Given the description of an element on the screen output the (x, y) to click on. 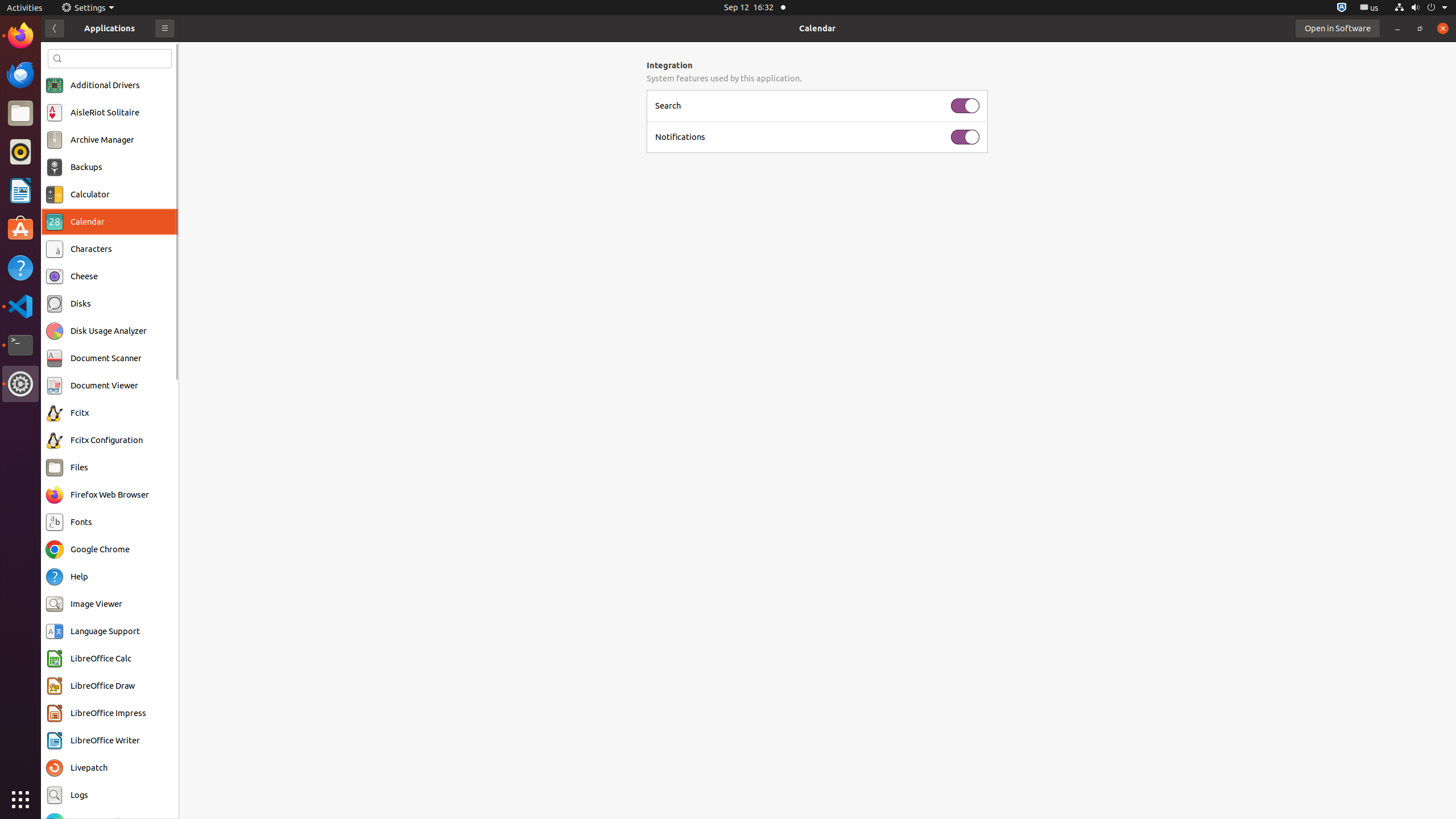
LibreOffice Draw Element type: label (102, 685)
Calendar Element type: label (817, 27)
Settings Element type: menu (87, 7)
Applications Element type: label (109, 27)
Google Chrome Element type: label (99, 549)
